Given the description of an element on the screen output the (x, y) to click on. 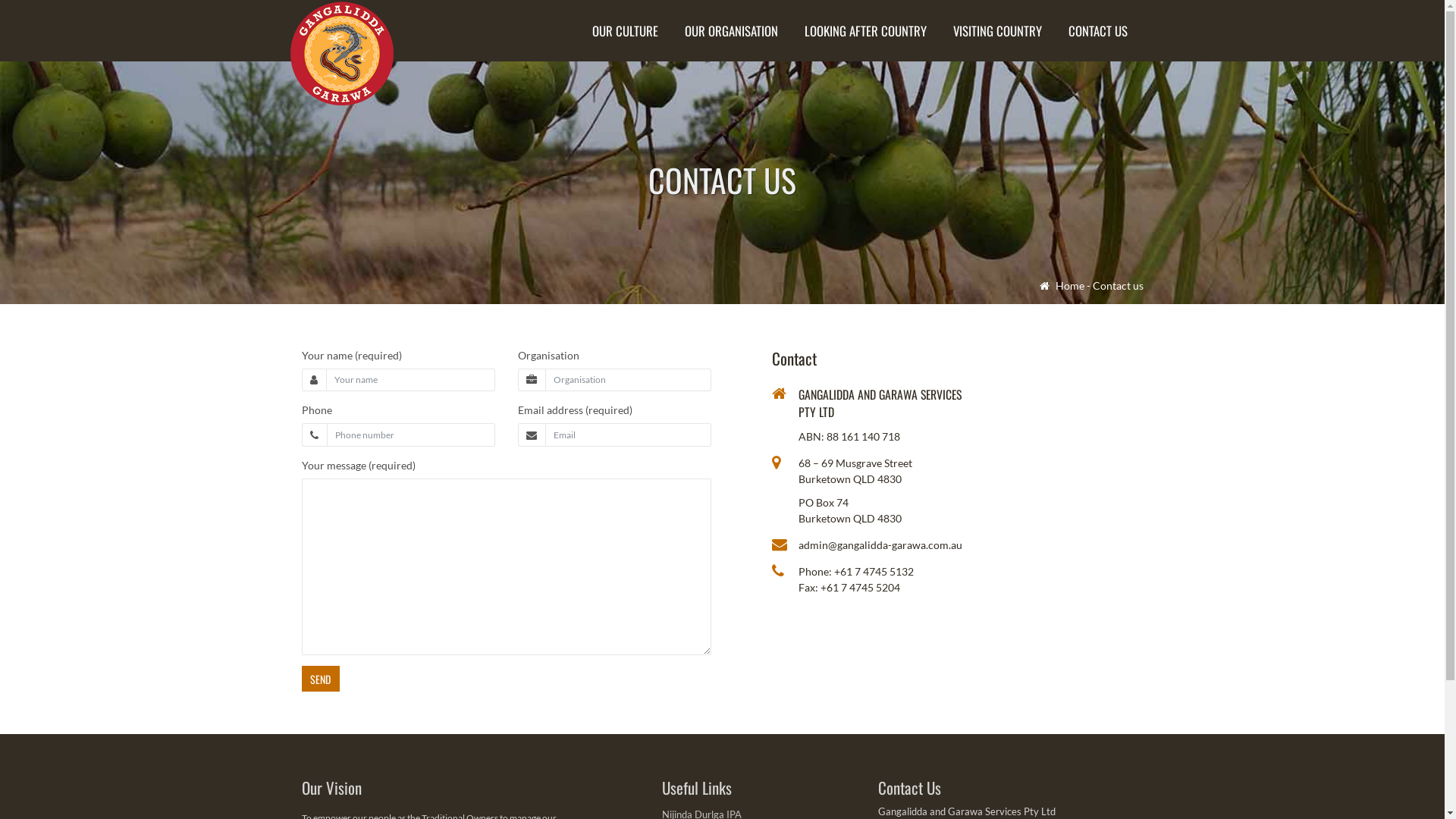
CONTACT US Element type: text (1097, 30)
OUR CULTURE Element type: text (624, 30)
Home Element type: text (1061, 285)
VISITING COUNTRY Element type: text (996, 30)
LOOKING AFTER COUNTRY Element type: text (864, 30)
Send Element type: text (320, 678)
OUR ORGANISATION Element type: text (730, 30)
